Given the description of an element on the screen output the (x, y) to click on. 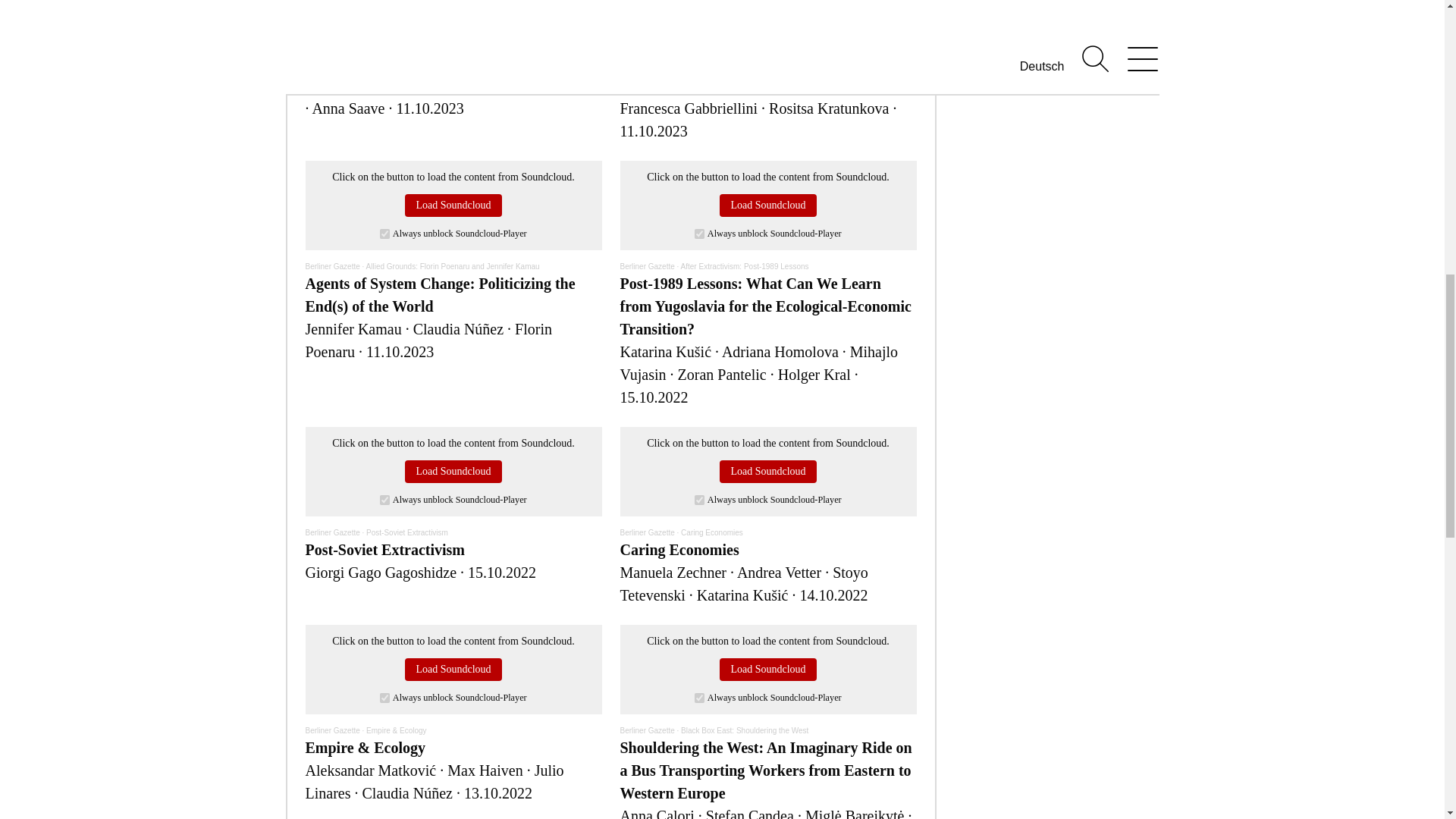
Post-Soviet Extractivism (407, 532)
1 (385, 697)
1 (699, 234)
1 (385, 234)
Berliner Gazette (647, 532)
Berliner Gazette (647, 22)
Berliner Gazette (331, 22)
After Extractivism: Post-1989 Lessons (745, 266)
1 (699, 697)
